Given the description of an element on the screen output the (x, y) to click on. 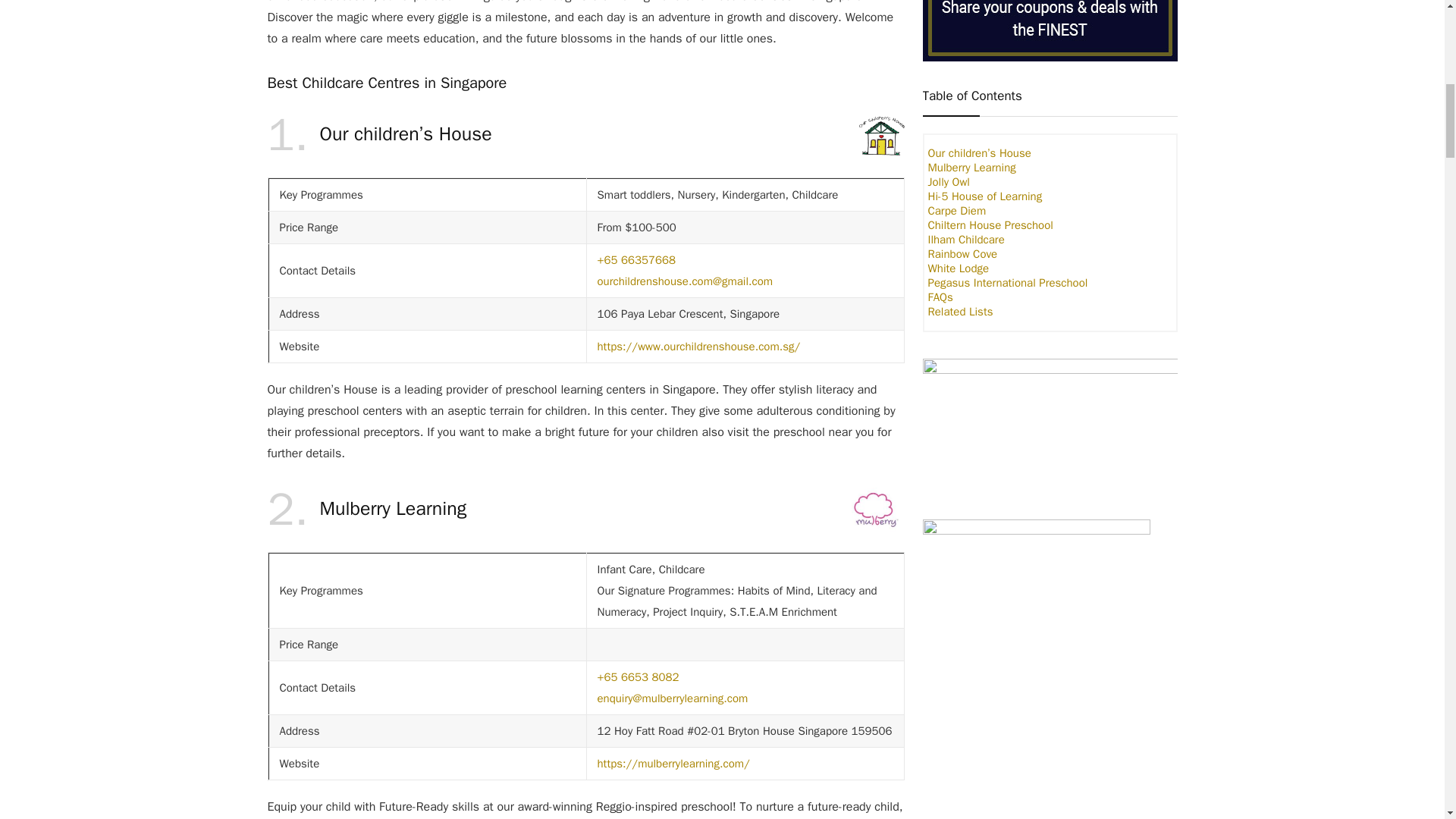
Advertisement (1048, 777)
